Given the description of an element on the screen output the (x, y) to click on. 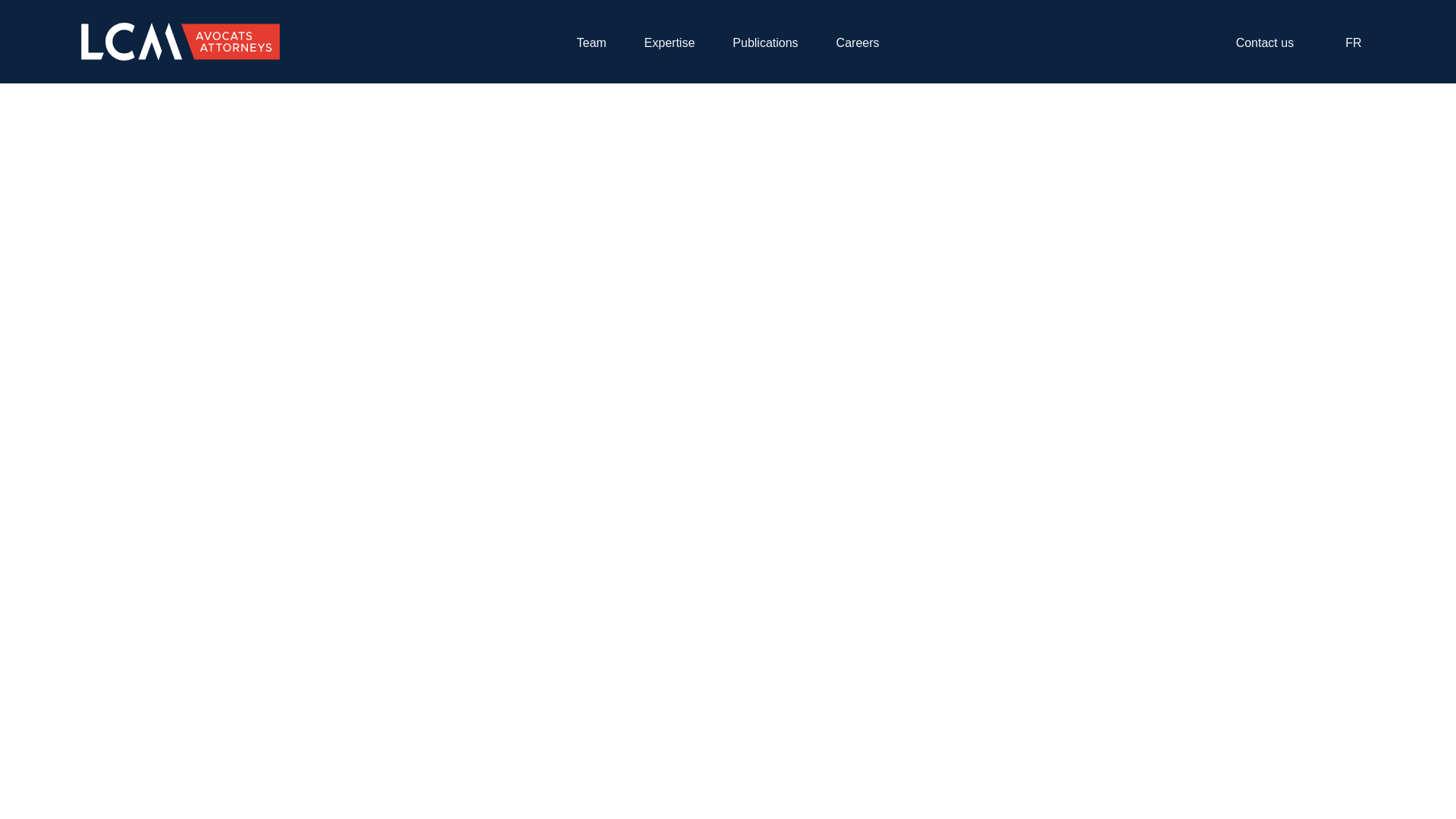
FR (1358, 44)
Expertise (670, 42)
LCM Avocats (180, 41)
Careers (857, 42)
Publications (764, 42)
Team (590, 42)
Contact us (1276, 42)
